Given the description of an element on the screen output the (x, y) to click on. 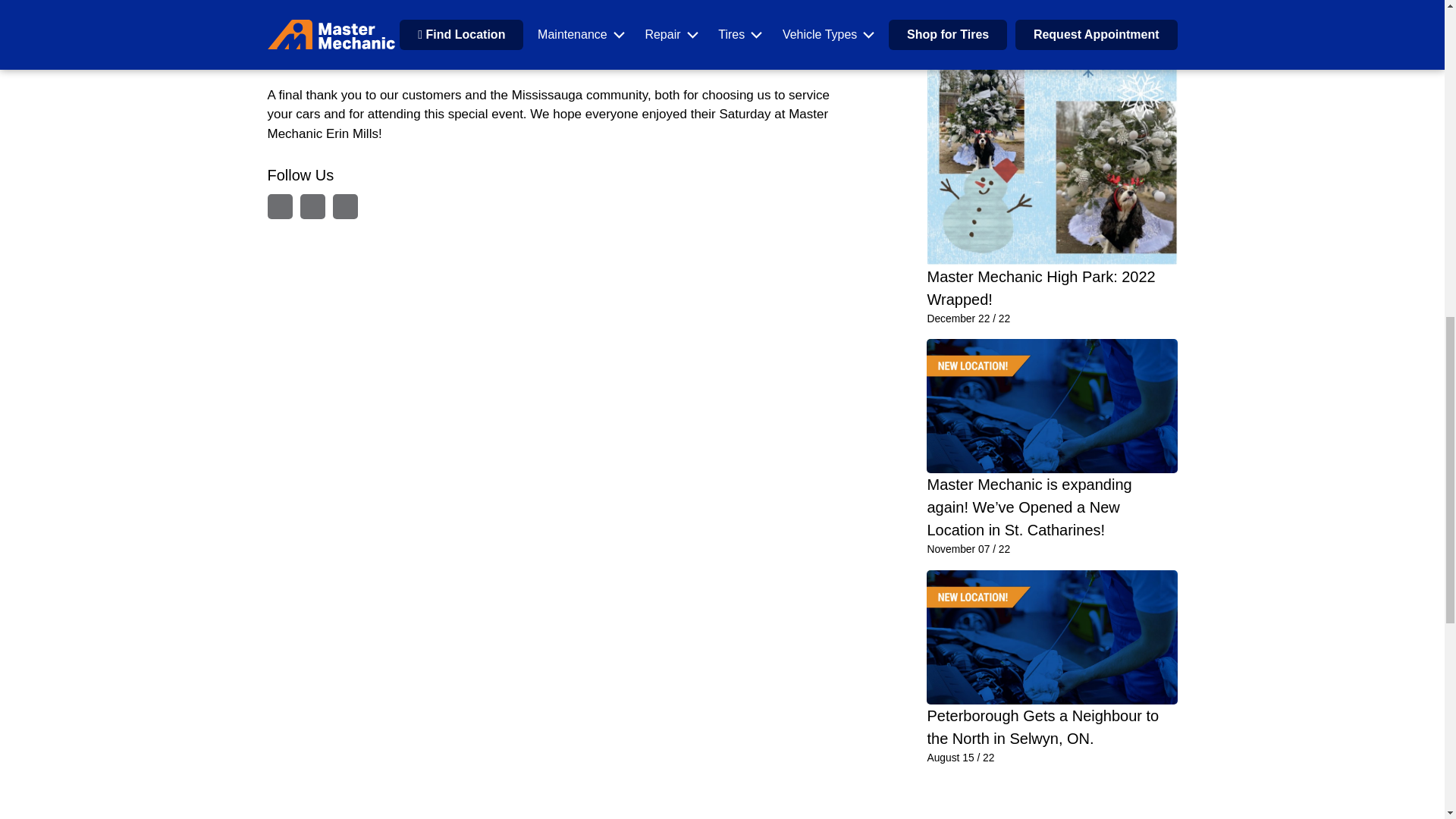
YouTube (343, 206)
Facebook (311, 206)
Instagram (279, 206)
